Given the description of an element on the screen output the (x, y) to click on. 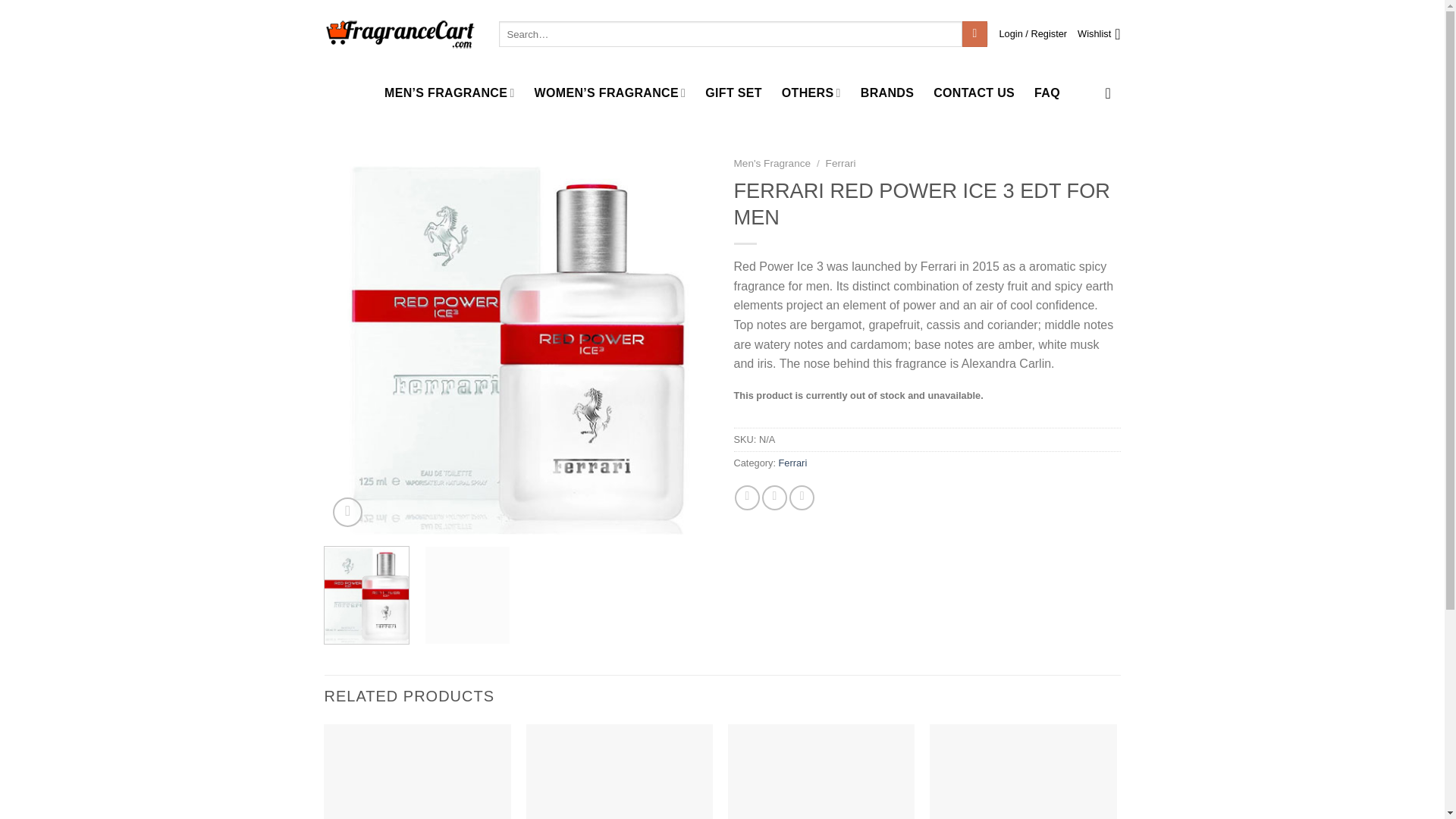
Wishlist (1098, 33)
Search (974, 33)
Men's Fragrance (771, 163)
Ferrari (793, 462)
GIFT SET (732, 92)
Login (1032, 33)
Share on Facebook (747, 497)
Ferrari (840, 163)
CONTACT US (973, 92)
Wishlist (1098, 33)
